Given the description of an element on the screen output the (x, y) to click on. 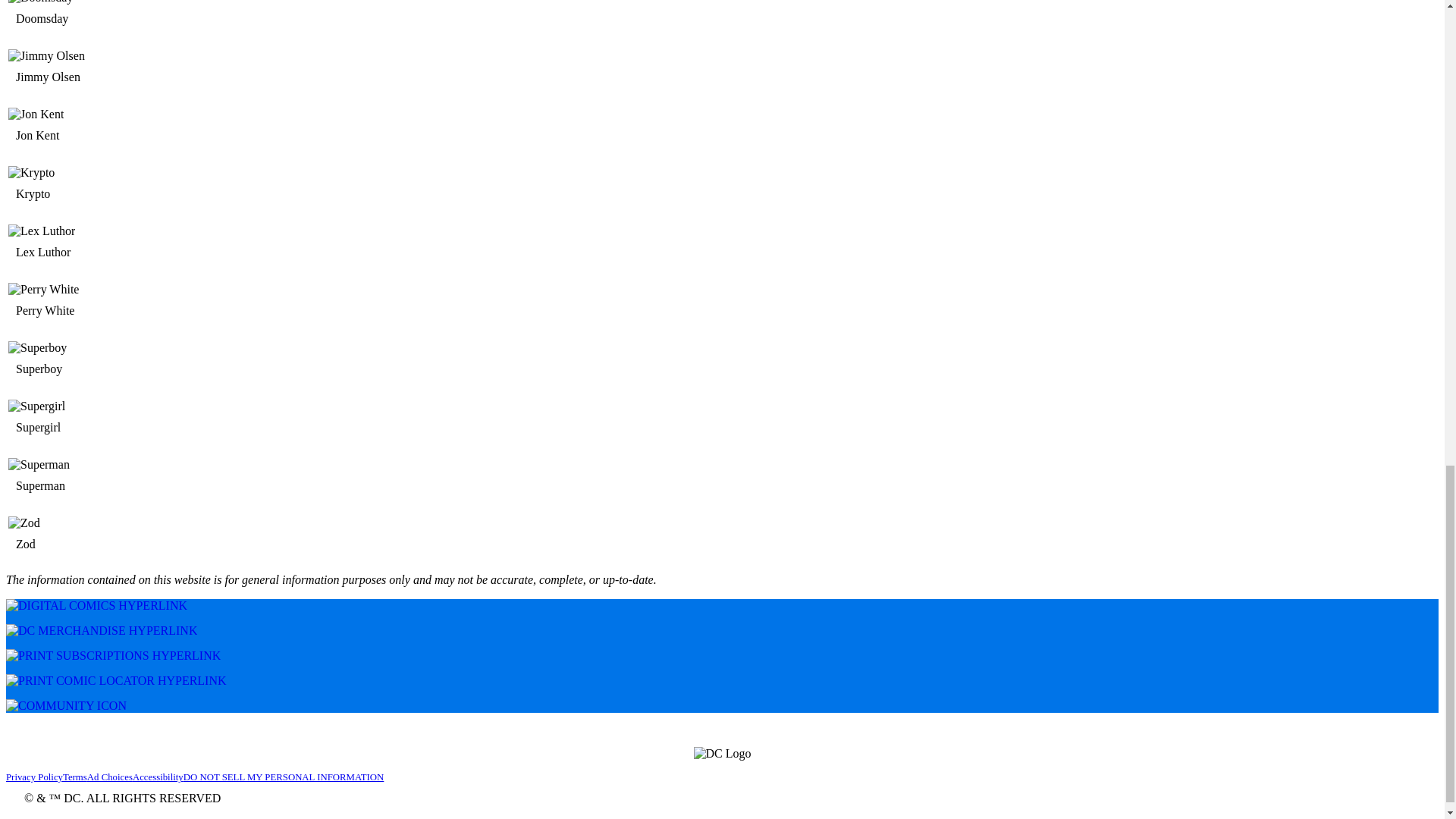
Doomsday (127, 16)
Krypto (39, 193)
Jimmy Olsen (54, 77)
Jon Kent (127, 128)
Doomsday (48, 18)
Krypto (127, 172)
Jimmy Olsen (127, 70)
Krypto (127, 187)
Doomsday (127, 2)
Jon Kent (43, 135)
